Given the description of an element on the screen output the (x, y) to click on. 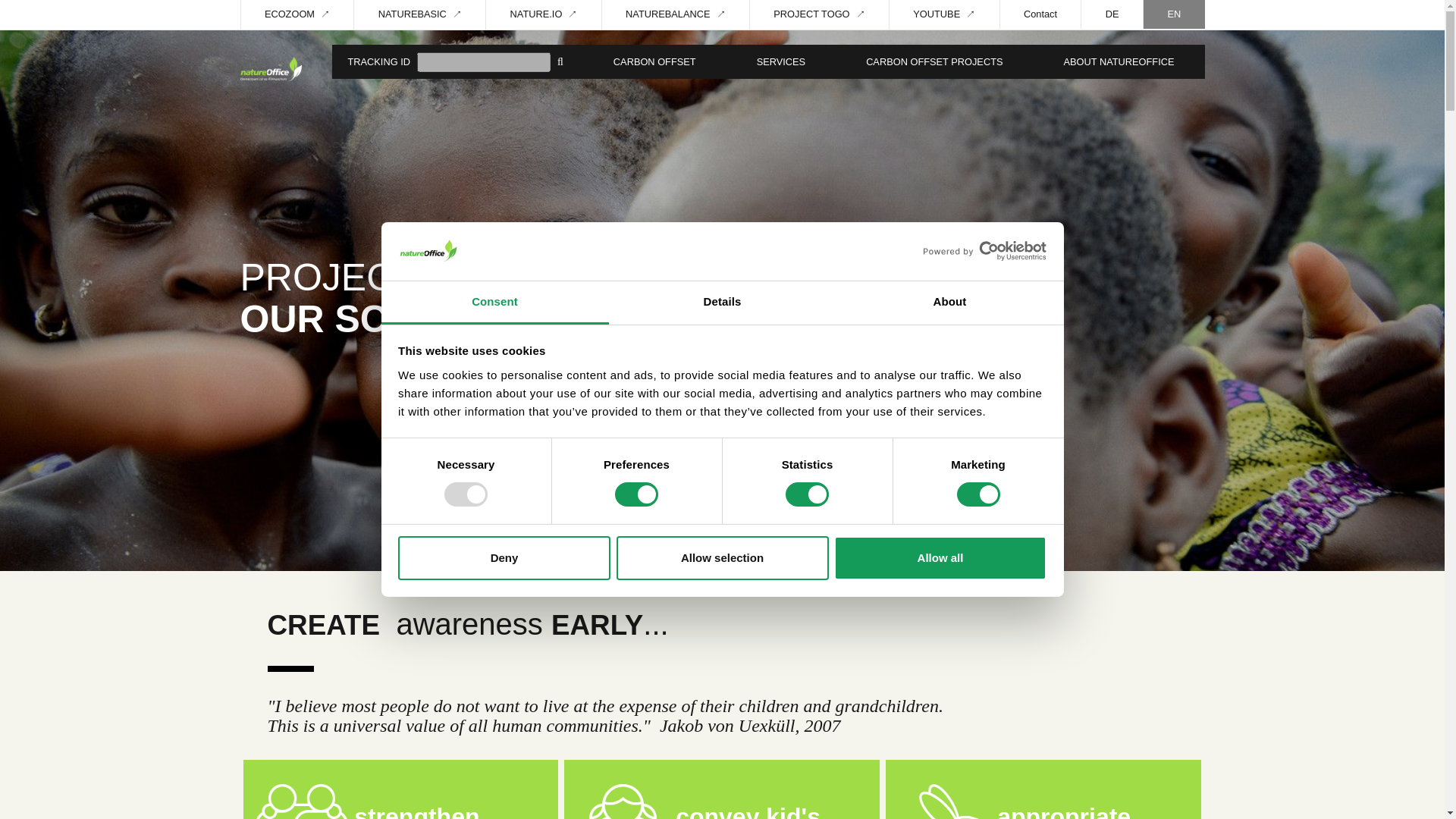
Everything about the project Togo! (818, 14)
Allow selection (721, 557)
Link opens in the new window. (675, 14)
Link opens in the new window. (943, 14)
Link opens in the new window. (296, 14)
Deny (503, 557)
About (948, 302)
Contact (1039, 14)
Allow all (940, 557)
Details (721, 302)
